Given the description of an element on the screen output the (x, y) to click on. 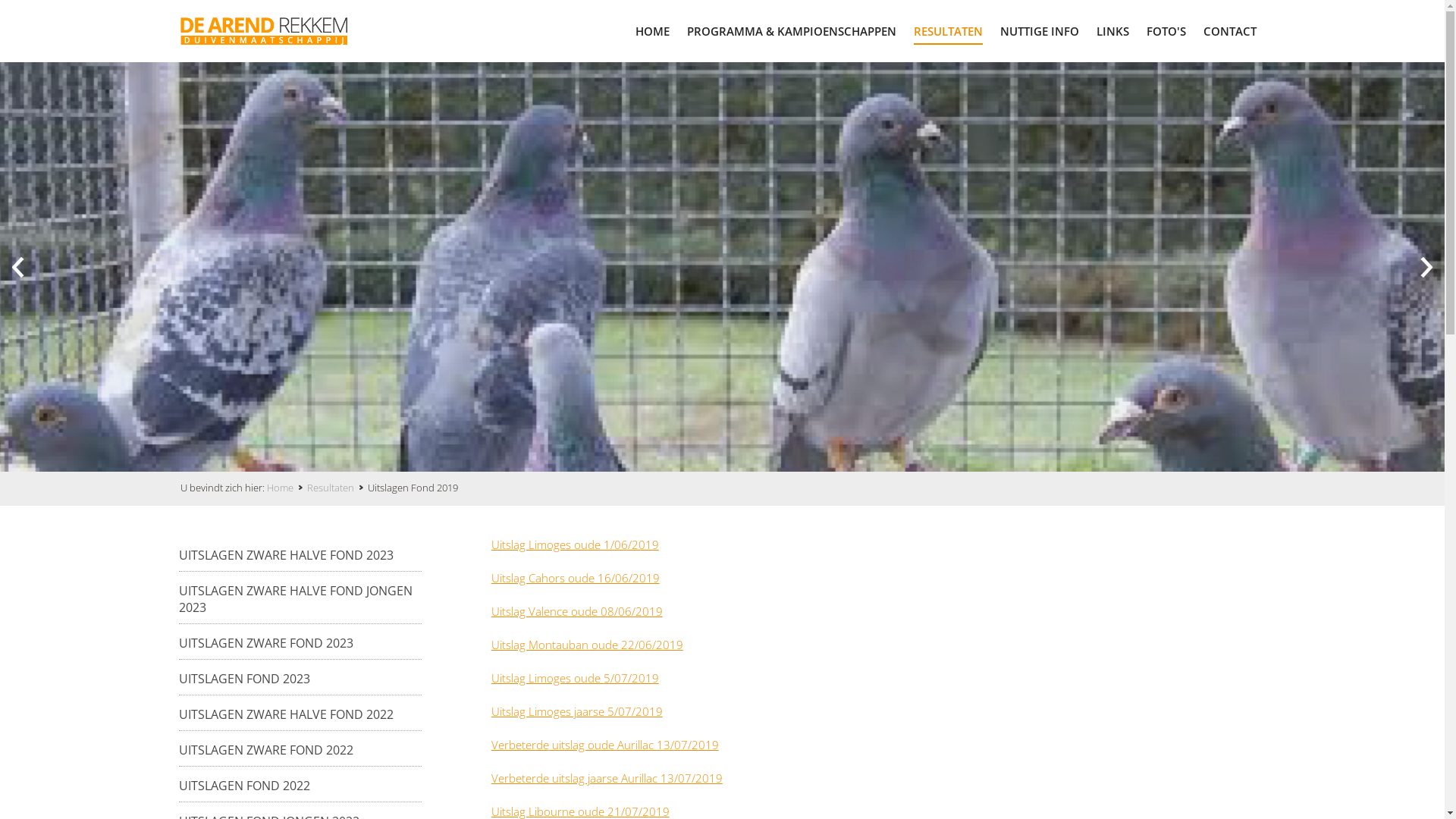
CONTACT Element type: text (1229, 29)
Uitslag Cahors oude 16/06/2019 Element type: text (575, 577)
UITSLAGEN FOND 2023 Element type: text (244, 678)
PROGRAMMA & KAMPIOENSCHAPPEN Element type: text (791, 29)
Uitslag Limoges jaarse 5/07/2019 Element type: text (576, 710)
UITSLAGEN ZWARE FOND 2023 Element type: text (265, 642)
Uitslag Limoges oude 5/07/2019 Element type: text (574, 677)
LINKS Element type: text (1112, 29)
UITSLAGEN ZWARE HALVE FOND 2023 Element type: text (285, 555)
Resultaten Element type: text (337, 487)
Home Element type: text (286, 487)
Uitslag Limoges oude 1/06/2019 Element type: text (574, 544)
NUTTIGE INFO Element type: text (1039, 29)
Uitslag Valence oude 08/06/2019 Element type: text (576, 610)
HOME Element type: text (652, 29)
UITSLAGEN ZWARE FOND 2022 Element type: text (265, 749)
Verbeterde Element type: text (520, 744)
UITSLAGEN FOND 2022 Element type: text (244, 785)
Uitslag Montauban oude 22/06/2019 Element type: text (587, 644)
RESULTATEN Element type: text (947, 29)
UITSLAGEN ZWARE HALVE FOND 2022 Element type: text (285, 714)
Verbeter Element type: text (513, 777)
UITSLAGEN ZWARE HALVE FOND JONGEN 2023 Element type: text (299, 598)
FOTO'S Element type: text (1166, 29)
de uitslag jaarse Aurillac 13/07/2019 Element type: text (629, 777)
 uitslag oude Aurillac 13/07/2019 Element type: text (633, 744)
